Given the description of an element on the screen output the (x, y) to click on. 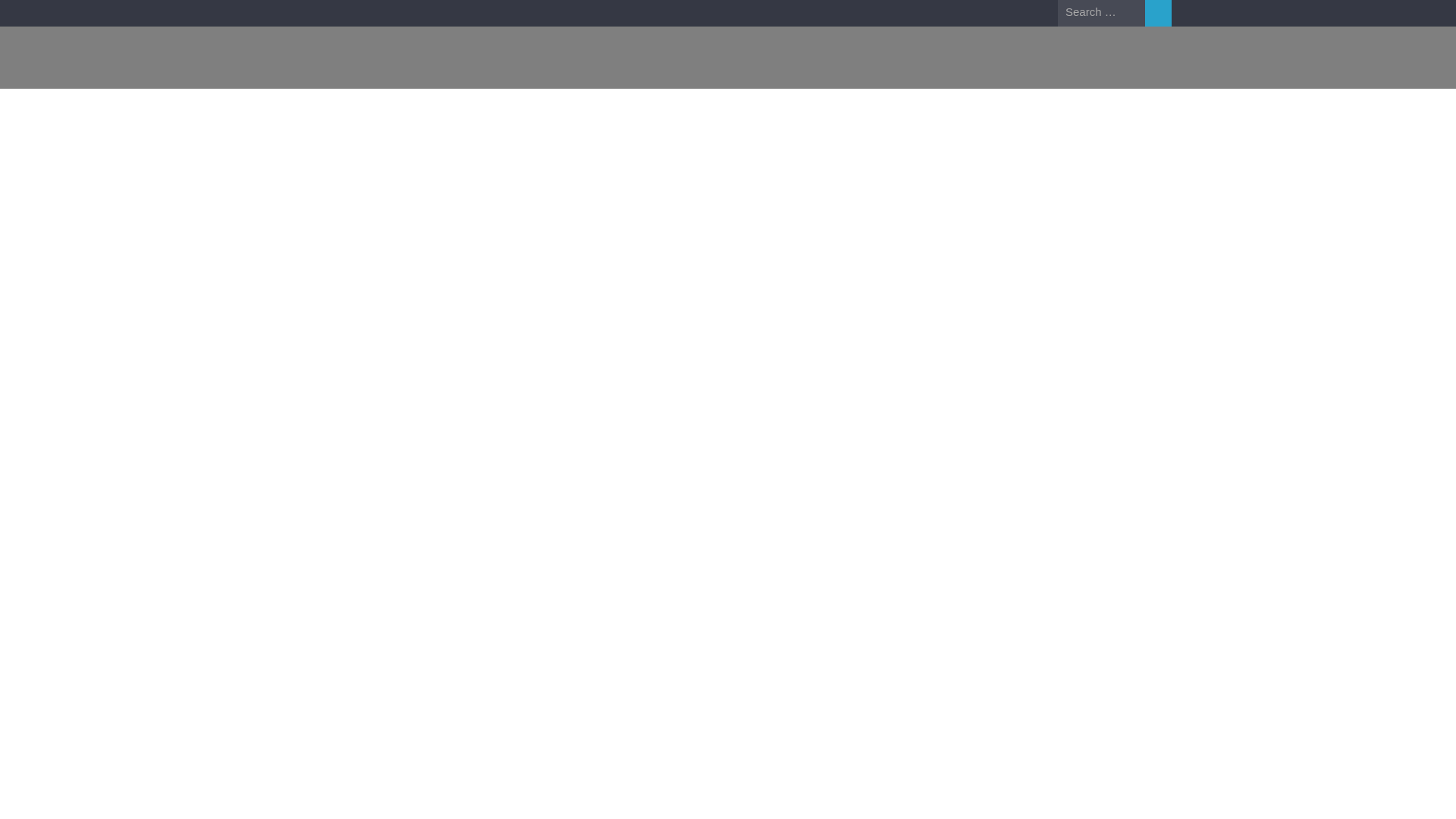
Search for: (1101, 12)
Search (1158, 13)
Search (1158, 13)
Search (1158, 13)
